Given the description of an element on the screen output the (x, y) to click on. 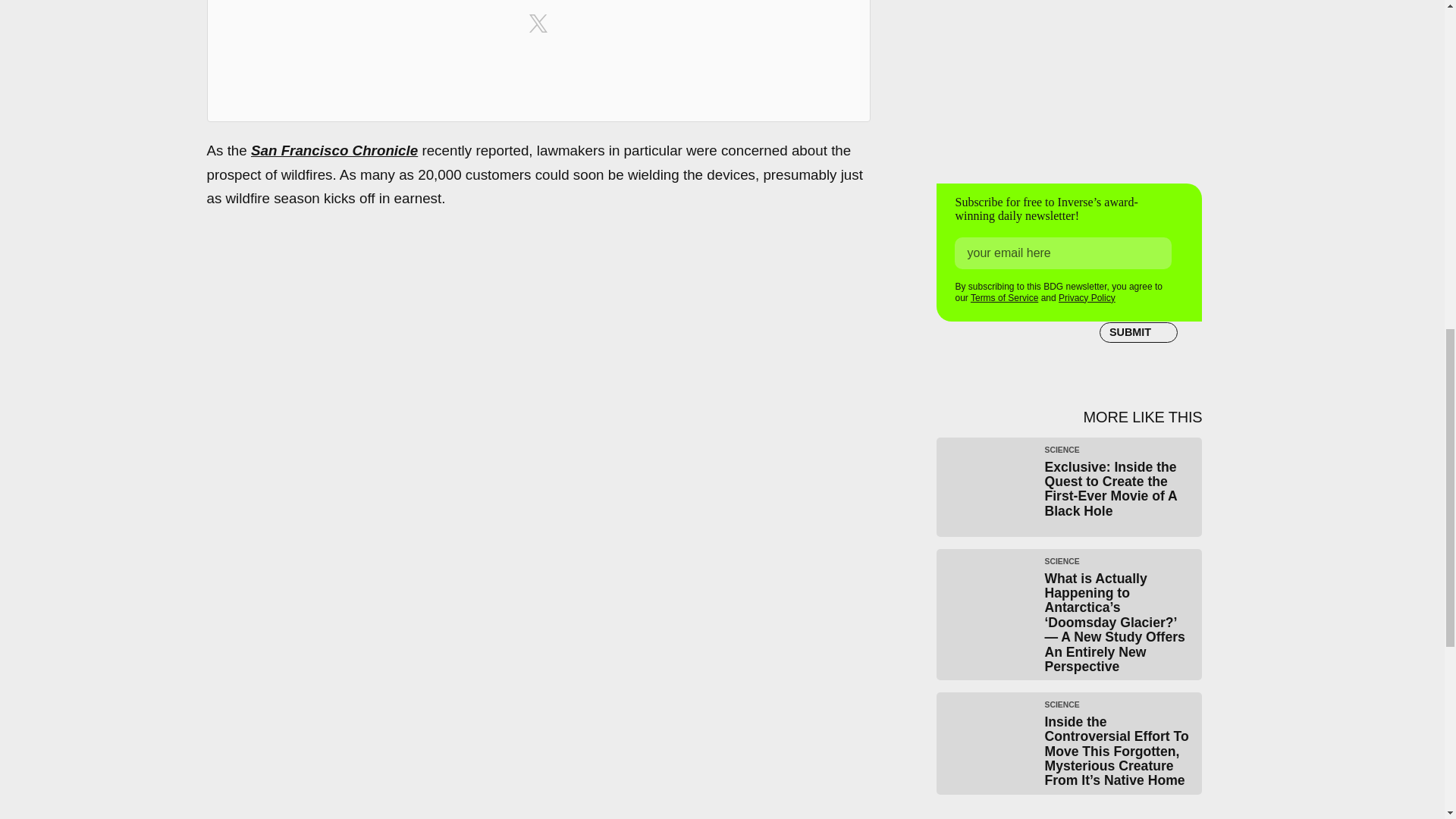
Terms of Service (1004, 297)
SUBMIT (1138, 332)
San Francisco Chronicle (333, 150)
Privacy Policy (1086, 297)
